Given the description of an element on the screen output the (x, y) to click on. 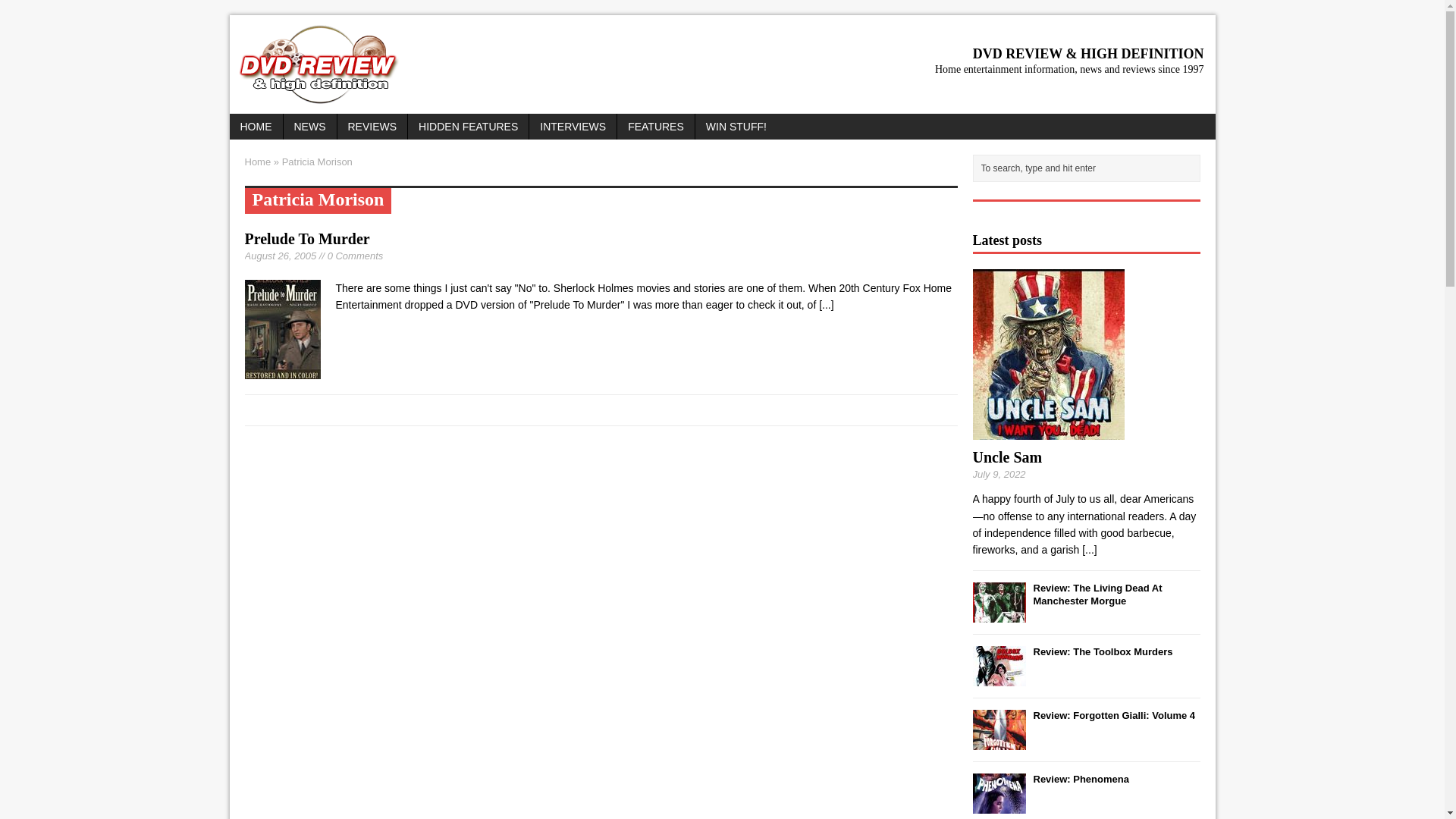
Review: Forgotten Gialli: Volume 4 (1113, 715)
The Toolbox Murders (998, 677)
The Toolbox Murders (1102, 651)
Prelude To Murder (306, 238)
Prelude To Murder (825, 304)
WIN STUFF! (736, 126)
Forgotten Gialli: Volume 4 (998, 740)
FEATURES (655, 126)
REVIEWS (371, 126)
Phenomena (998, 804)
